Given the description of an element on the screen output the (x, y) to click on. 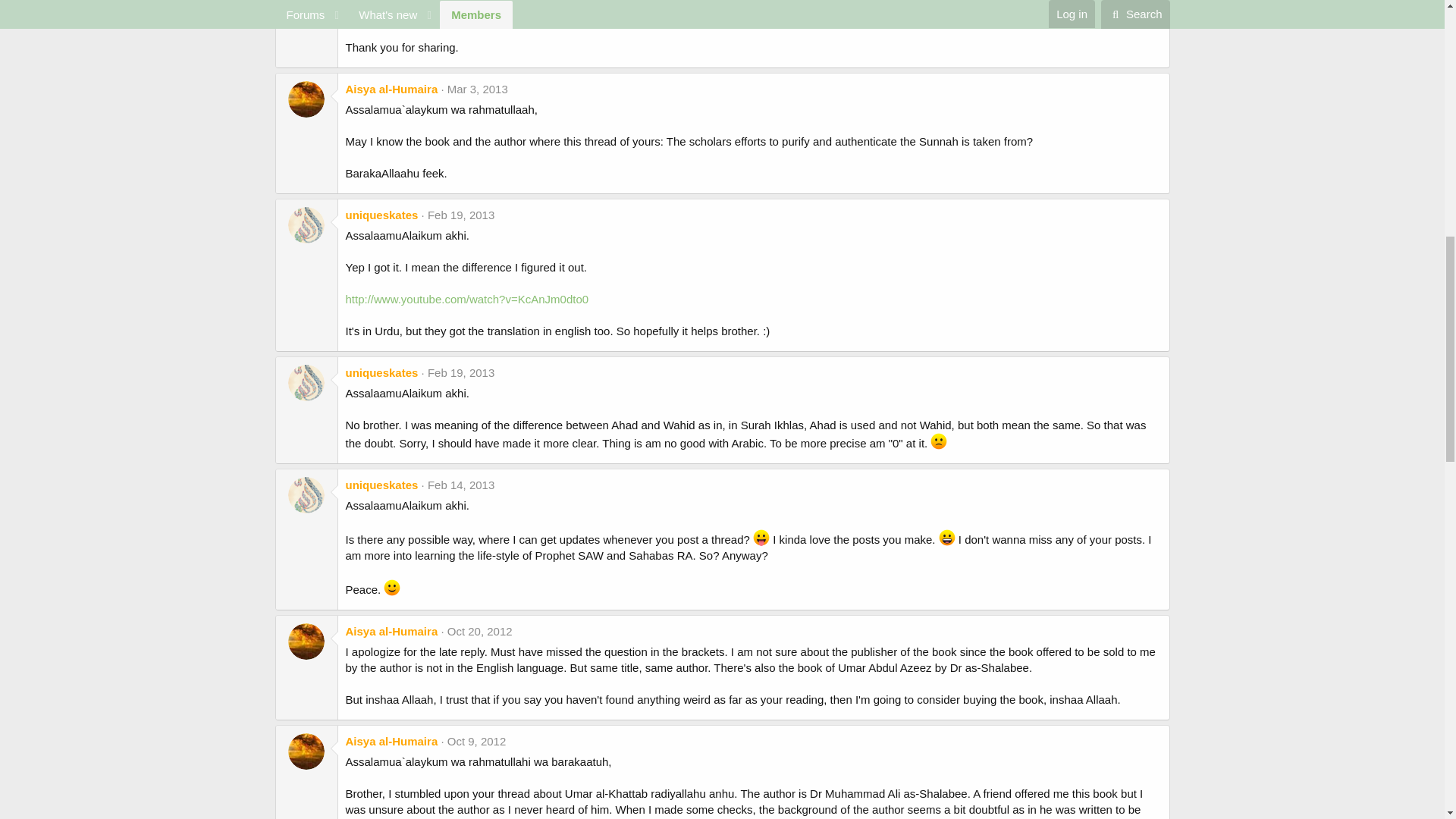
Stick Out Tongue    :p (761, 537)
Feb 14, 2013 at 3:24 AM (461, 484)
Mar 4, 2013 at 1:27 PM (477, 0)
Feb 19, 2013 at 4:19 AM (461, 372)
Feb 19, 2013 at 4:58 PM (461, 214)
Mar 3, 2013 at 3:51 AM (477, 88)
